Given the description of an element on the screen output the (x, y) to click on. 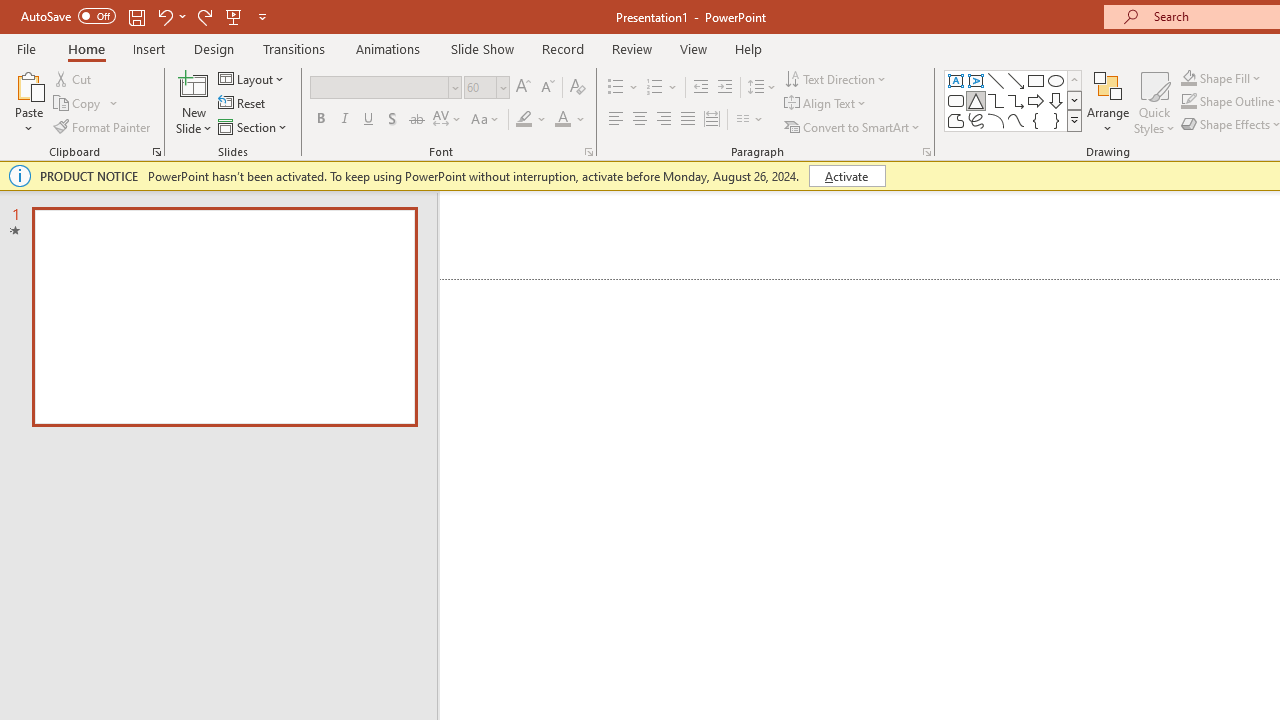
Activate (846, 175)
